Given the description of an element on the screen output the (x, y) to click on. 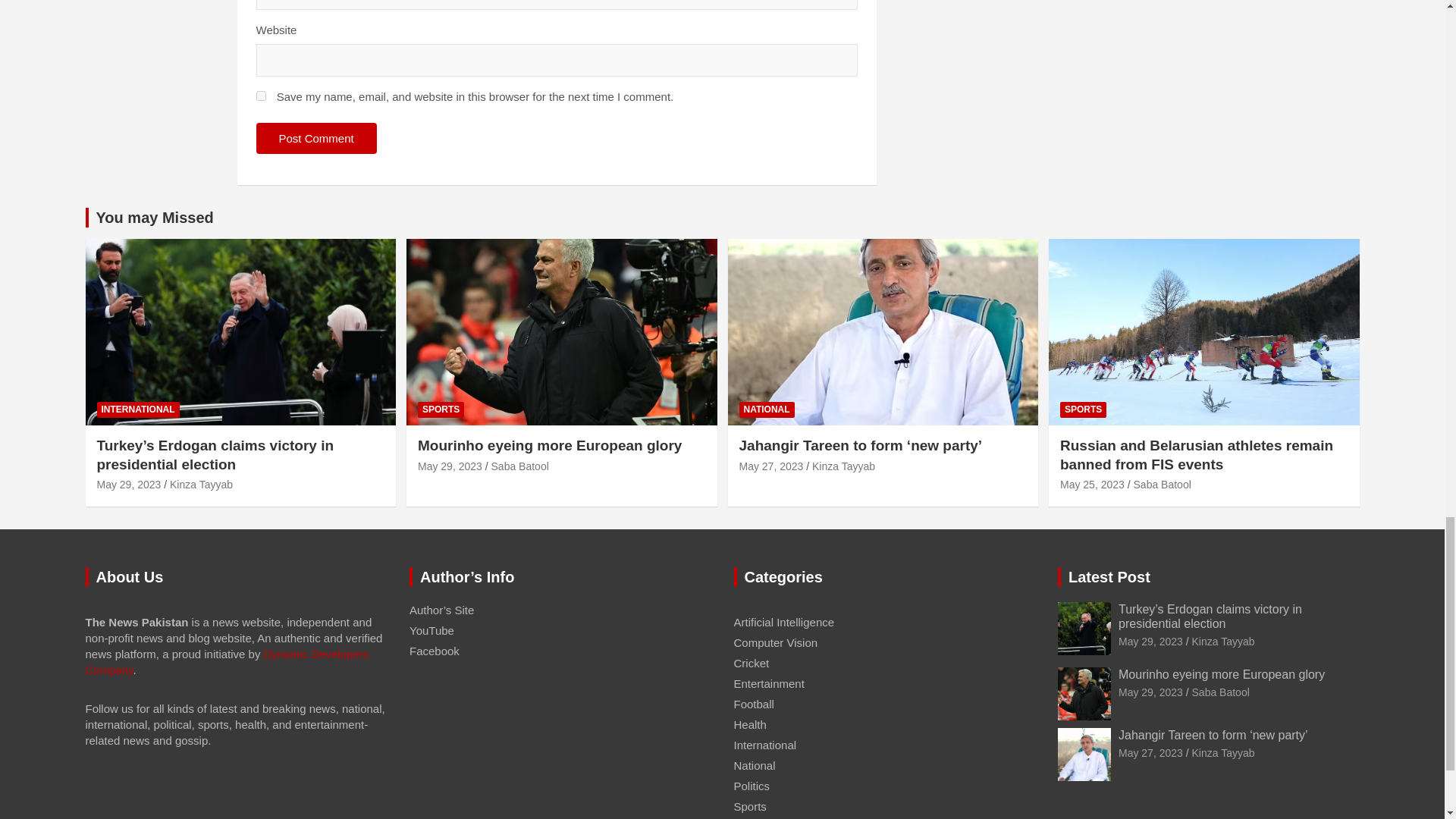
Mourinho eyeing more European glory (449, 465)
Post Comment (316, 137)
yes (261, 95)
Post Comment (316, 137)
Mourinho eyeing more European glory (1150, 692)
